Given the description of an element on the screen output the (x, y) to click on. 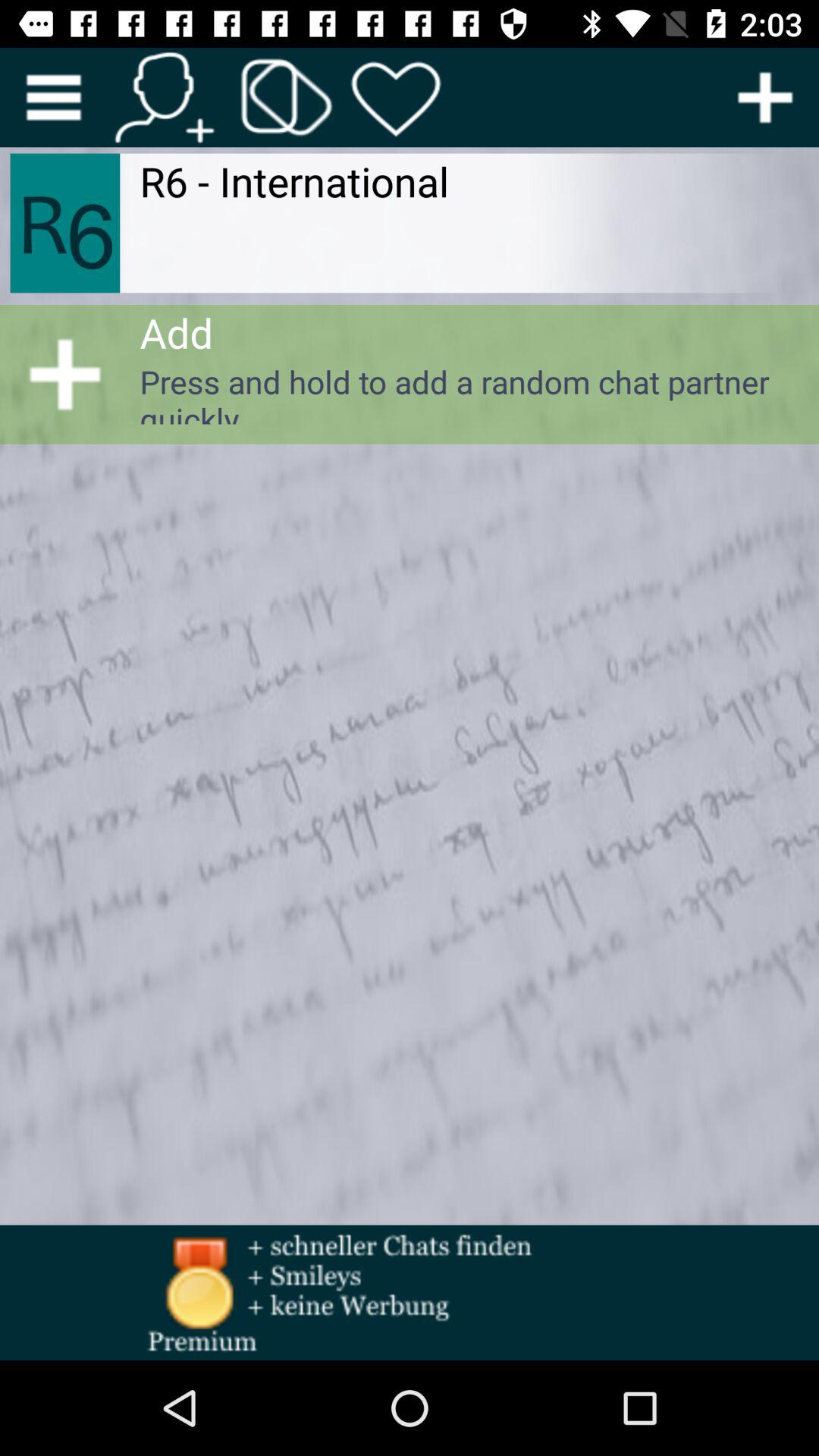
fave rad (396, 97)
